Given the description of an element on the screen output the (x, y) to click on. 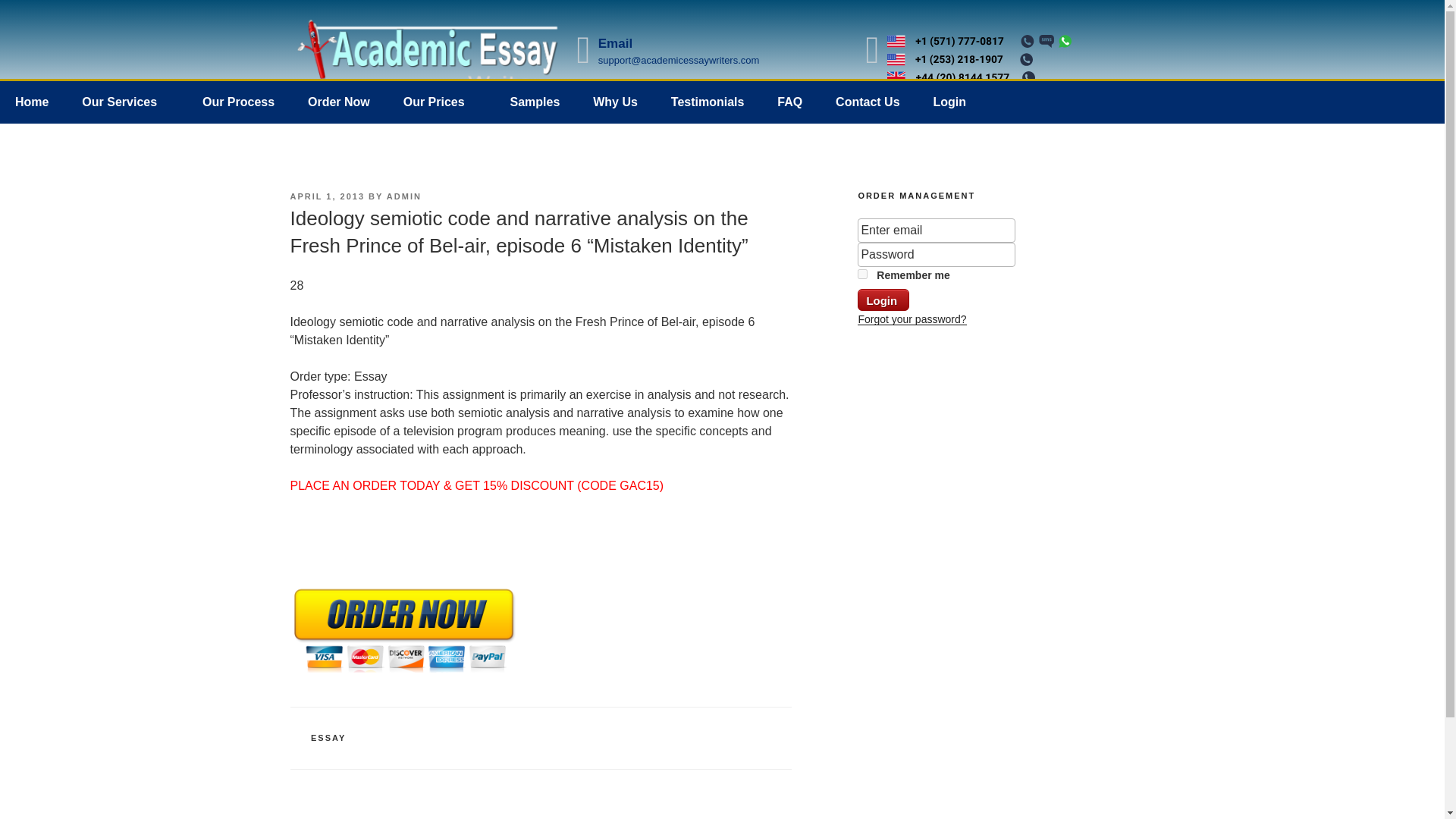
Samples (535, 102)
Login (882, 300)
Our Prices (440, 102)
Testimonials (708, 102)
Login (949, 102)
ESSAY (328, 737)
ADMIN (404, 195)
Forgot your password? (911, 318)
Our Services (125, 102)
click to Login (882, 300)
